Given the description of an element on the screen output the (x, y) to click on. 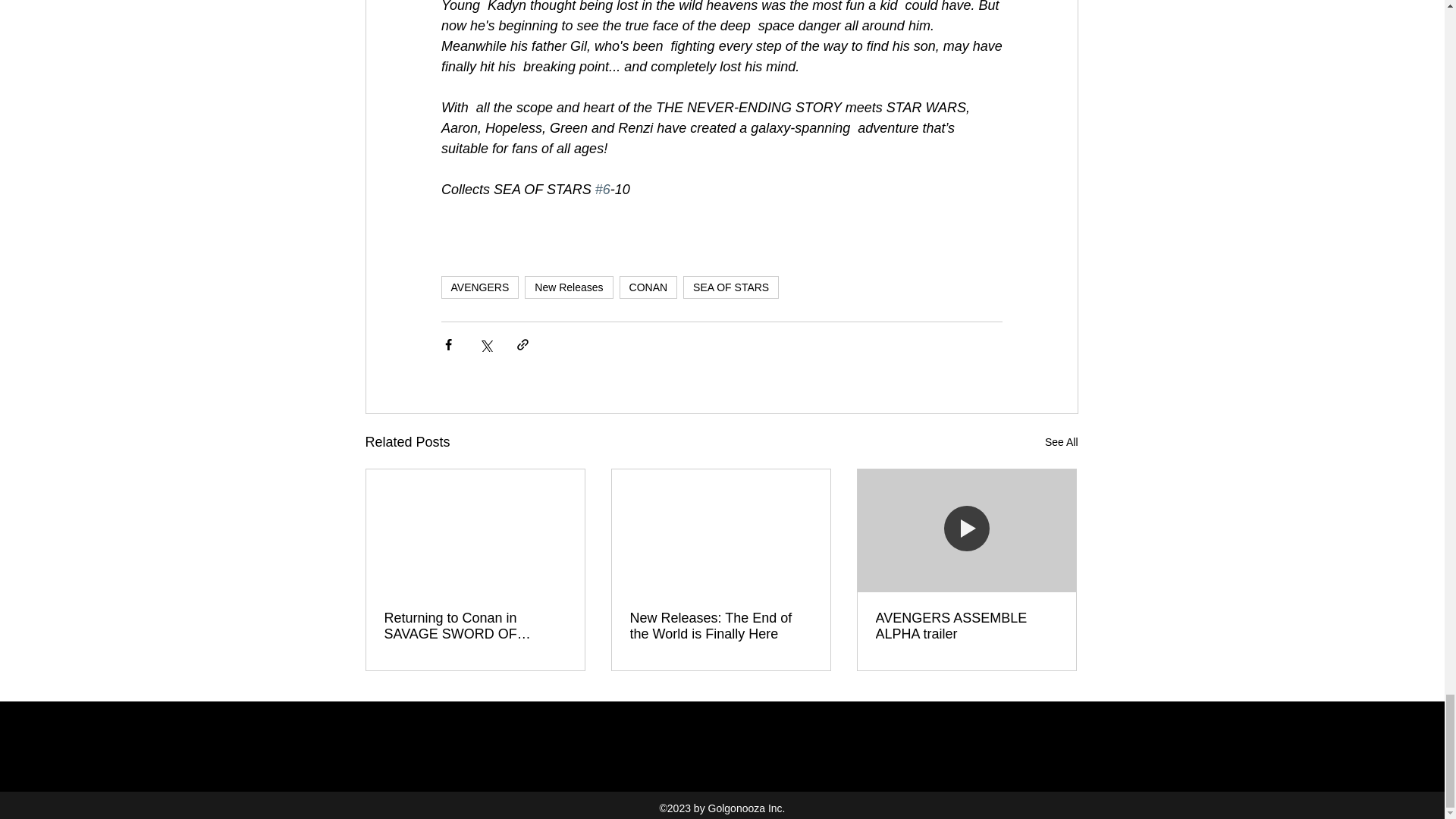
CONAN (649, 287)
Returning to Conan in SAVAGE SWORD OF CONAN (475, 626)
New Releases (568, 287)
AVENGERS (480, 287)
New Releases: The End of the World is Finally Here (719, 626)
See All (1061, 442)
SEA OF STARS (730, 287)
AVENGERS ASSEMBLE ALPHA trailer (966, 626)
